Given the description of an element on the screen output the (x, y) to click on. 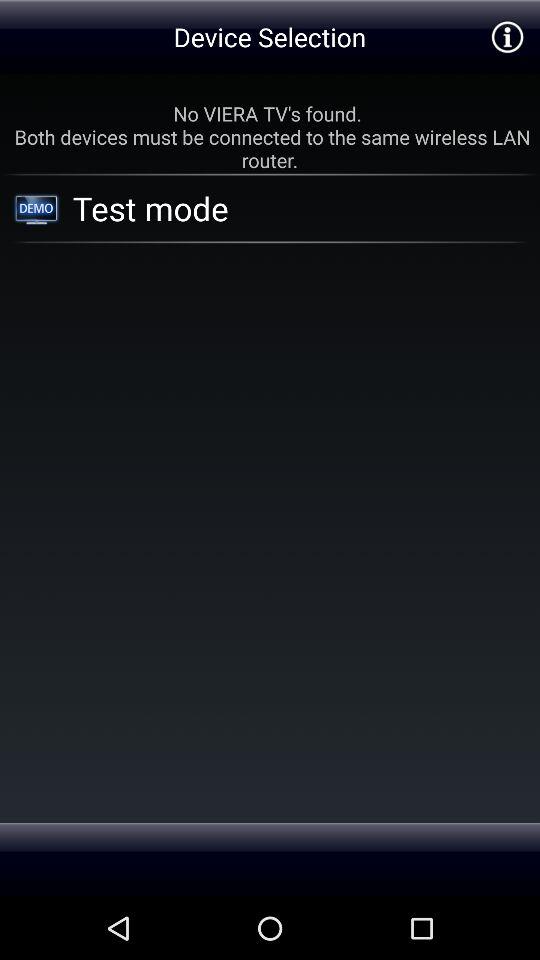
show more infomation (506, 36)
